Given the description of an element on the screen output the (x, y) to click on. 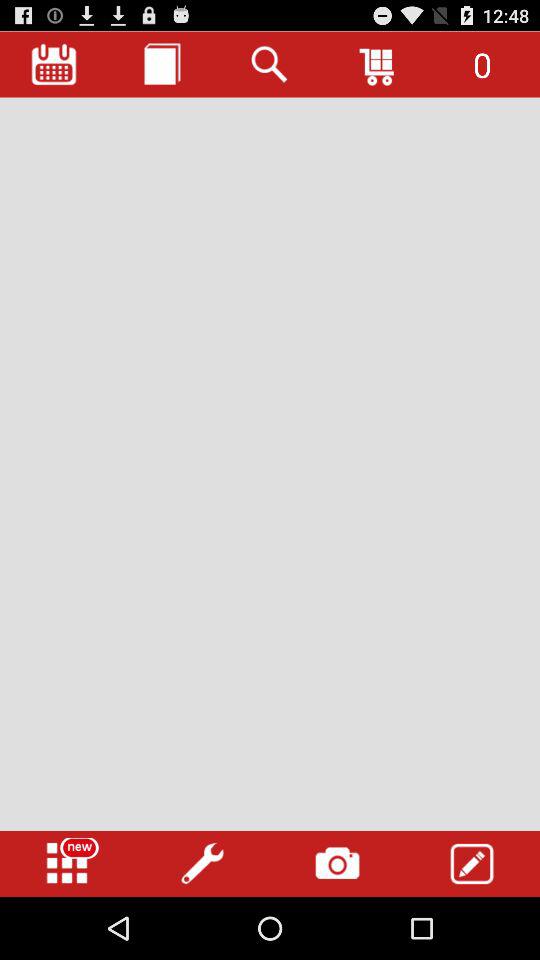
view diary (161, 64)
